Given the description of an element on the screen output the (x, y) to click on. 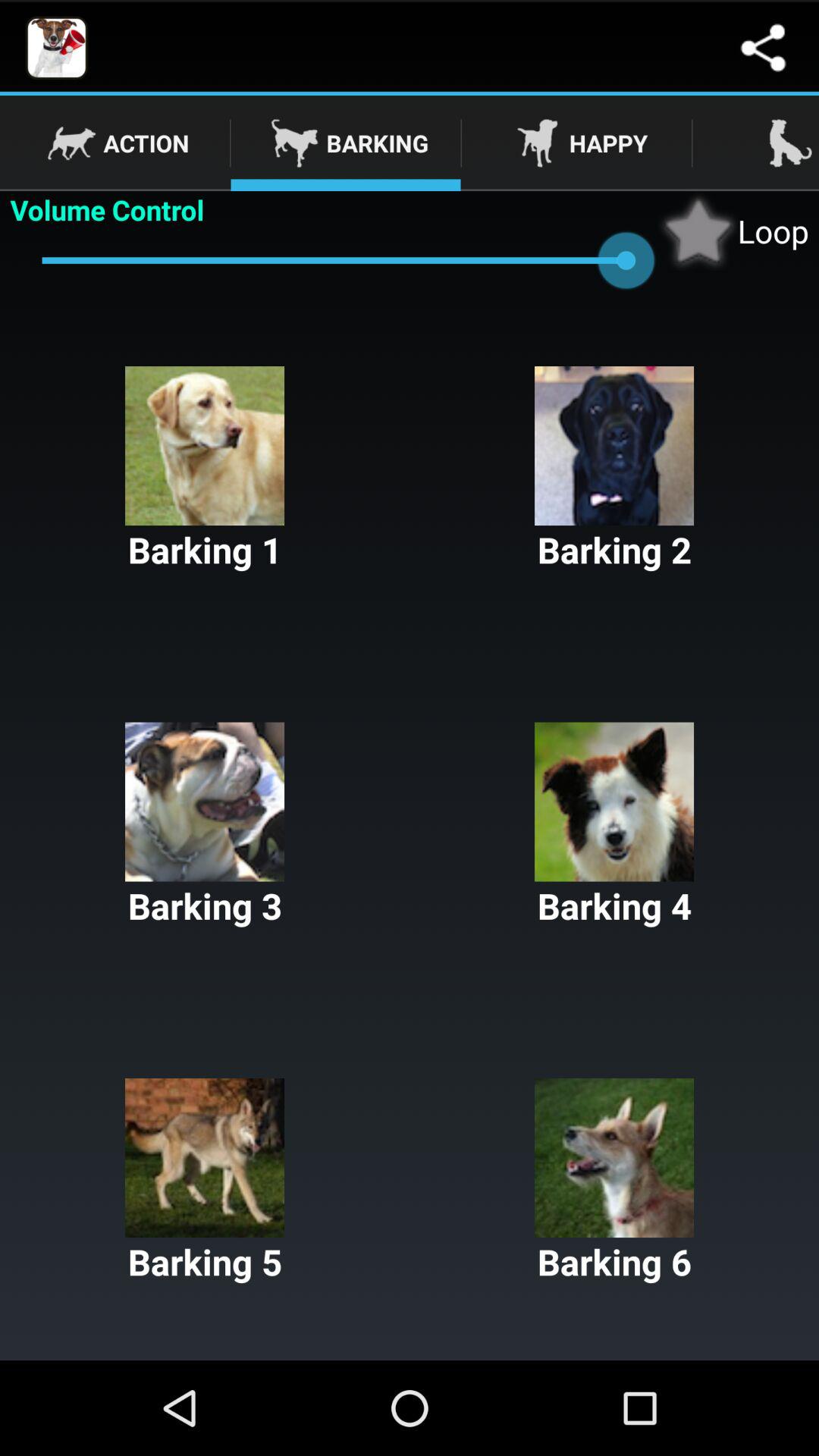
choose the app to the right of volume control (733, 230)
